Given the description of an element on the screen output the (x, y) to click on. 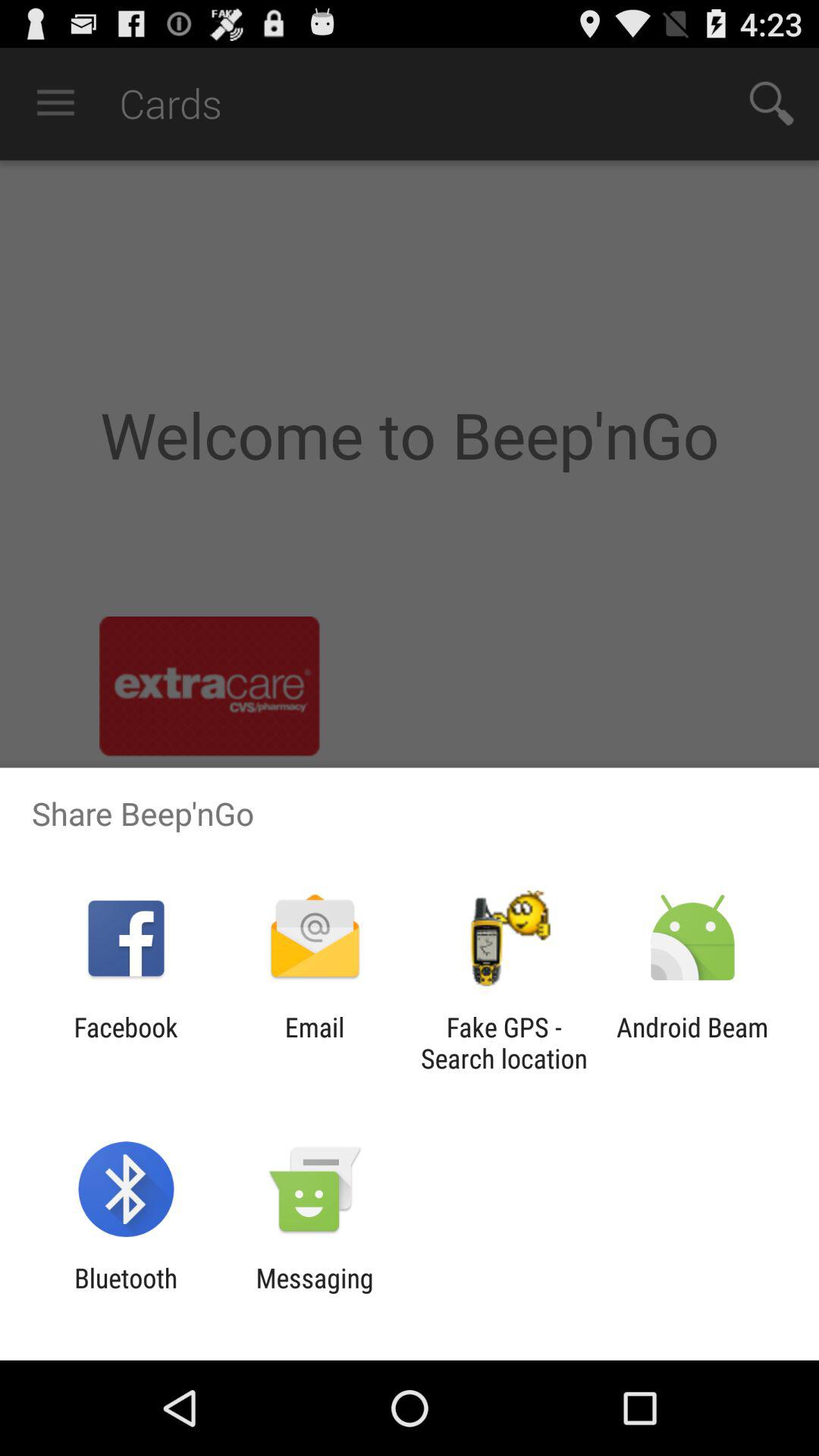
turn off email icon (314, 1042)
